Given the description of an element on the screen output the (x, y) to click on. 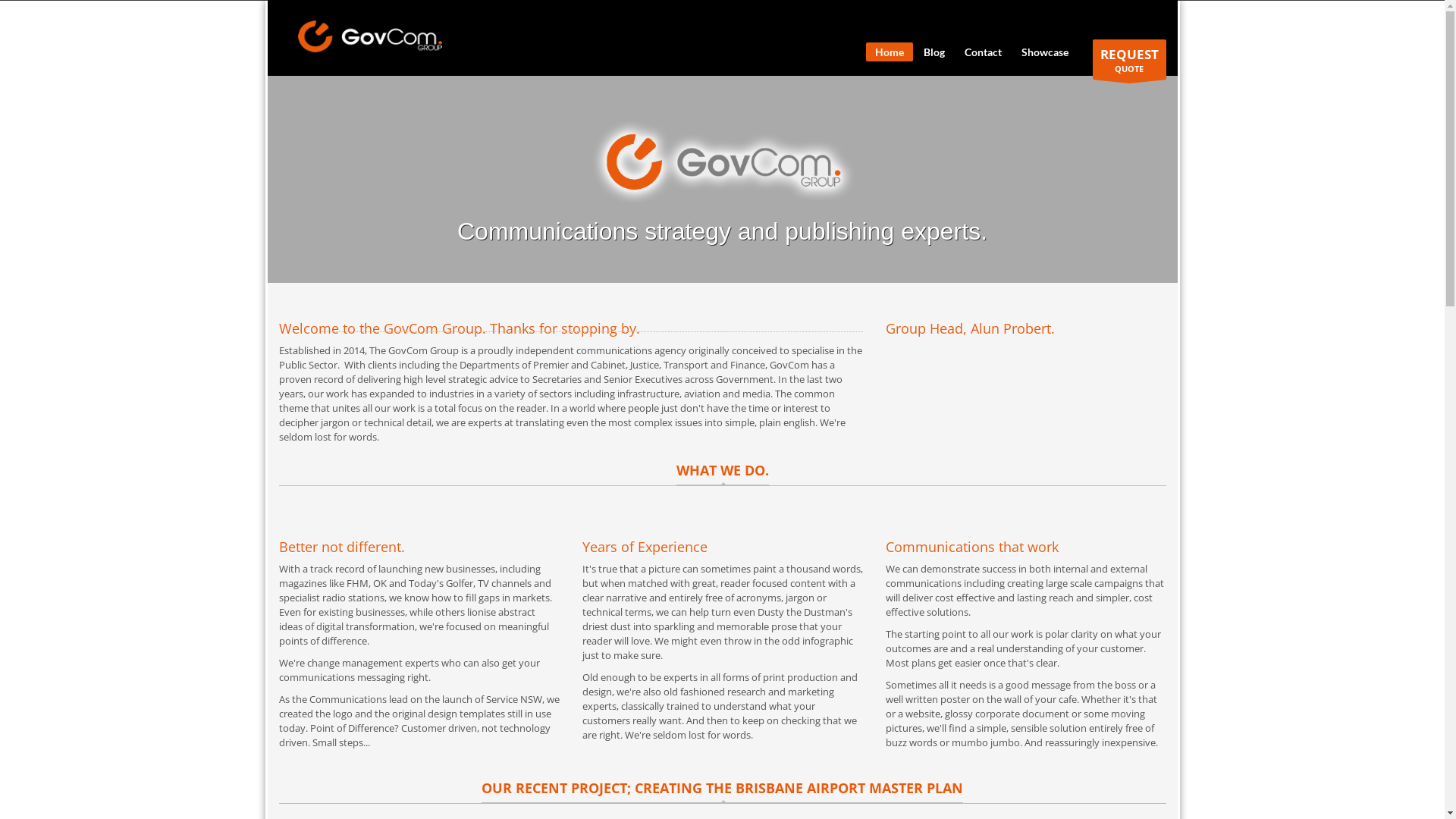
Showcase Element type: text (1043, 52)
Contact Element type: text (982, 52)
GovComGroup Element type: hover (369, 36)
REQUEST
QUOTE Element type: text (1128, 59)
Home Element type: text (889, 51)
Blog Element type: text (933, 52)
